Given the description of an element on the screen output the (x, y) to click on. 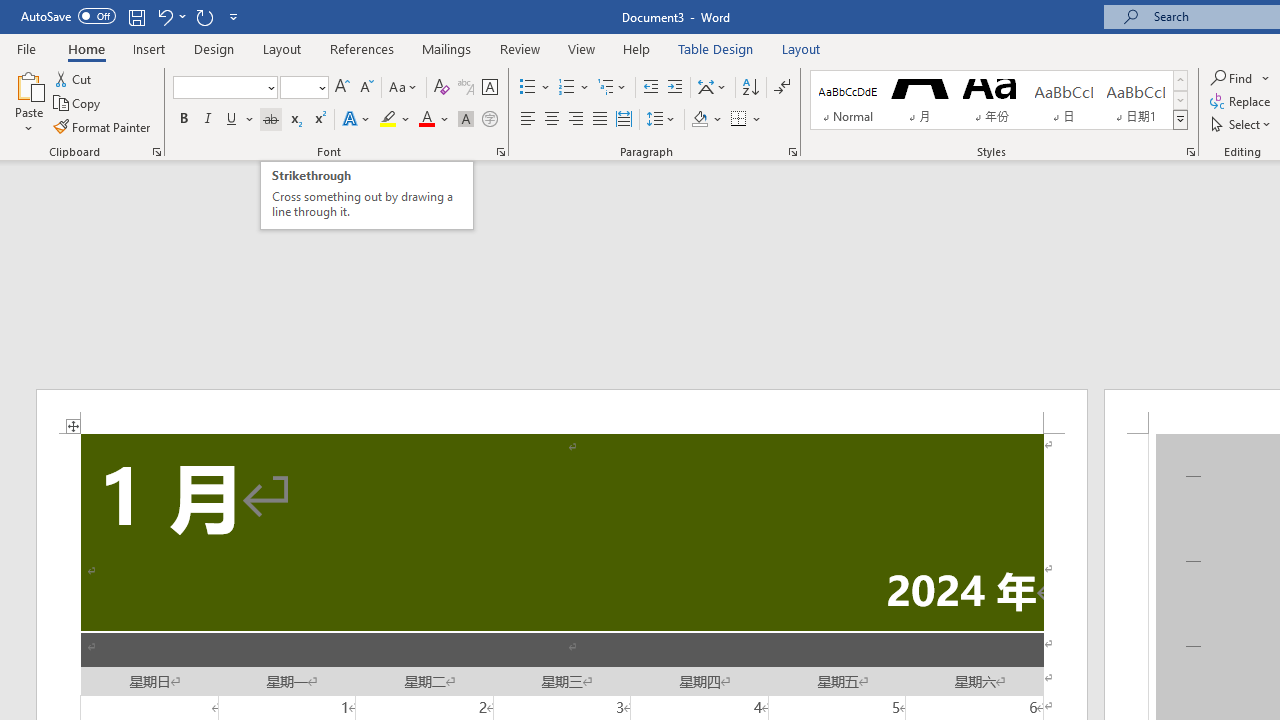
Font Color RGB(255, 0, 0) (426, 119)
